Given the description of an element on the screen output the (x, y) to click on. 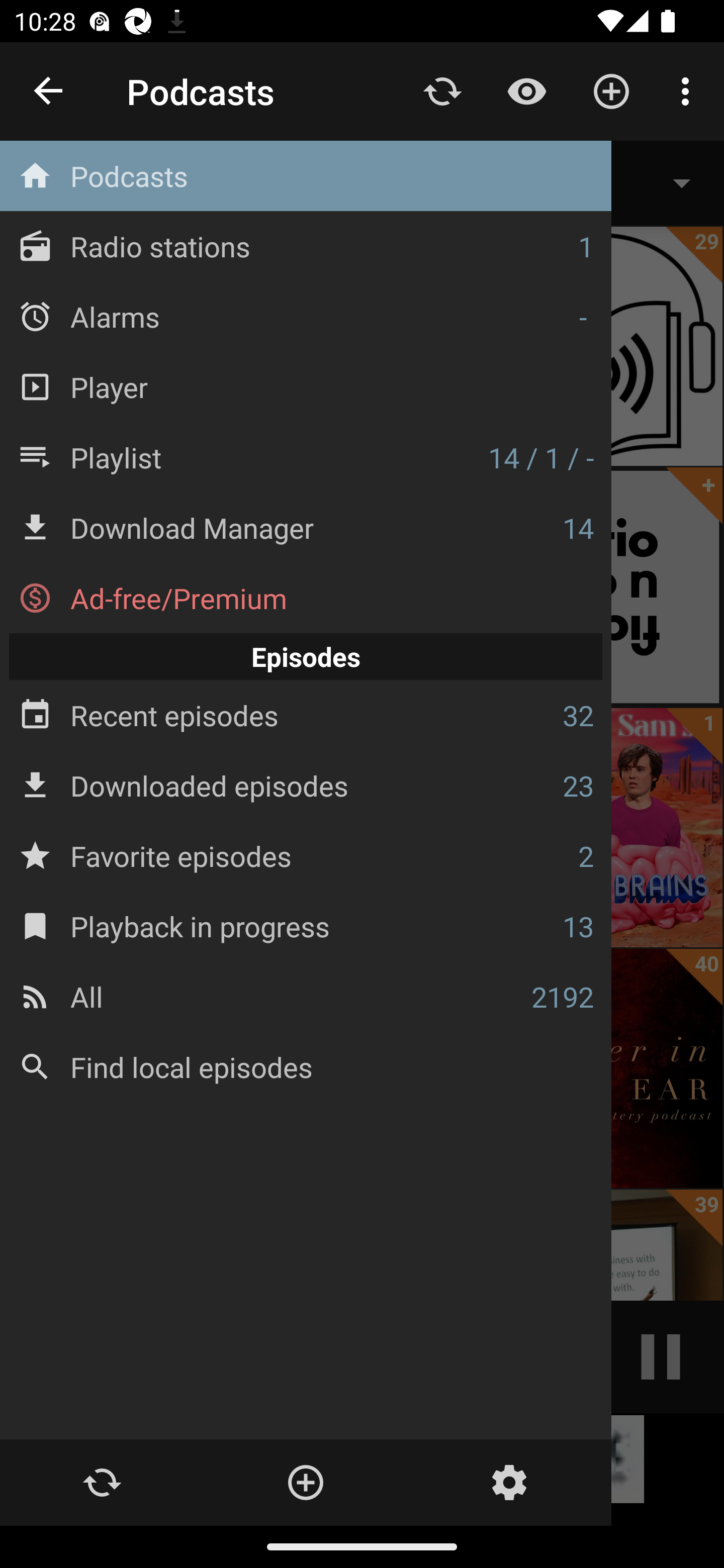
Close navigation sidebar (49, 91)
Update (442, 90)
Show / Hide played content (526, 90)
Add new Podcast (611, 90)
More options (688, 90)
Podcasts (305, 176)
Radio stations 1 (305, 245)
Alarms  -  (305, 315)
Player (305, 386)
Playlist 14 / 1 / - (305, 456)
Download Manager 14 (305, 527)
Ad-free/Premium (305, 597)
Recent episodes 32 (305, 715)
Downloaded episodes 23 (305, 785)
Favorite episodes 2 (305, 855)
Playback in progress 13 (305, 925)
All 2192 (305, 996)
Find local episodes (305, 1066)
Update (101, 1482)
Add new Podcast (304, 1482)
Settings (508, 1482)
